Given the description of an element on the screen output the (x, y) to click on. 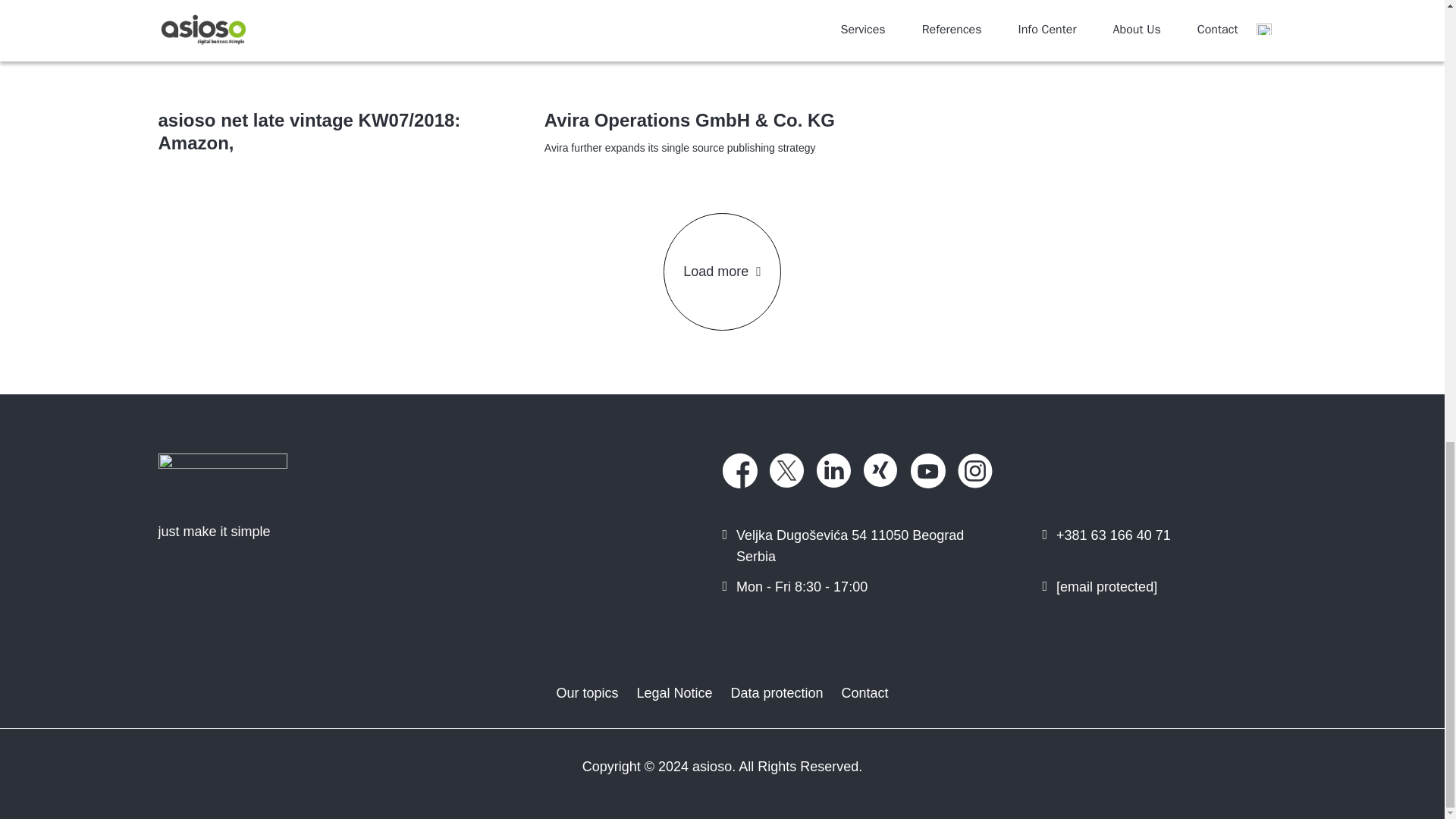
Legal Notice (673, 692)
